Given the description of an element on the screen output the (x, y) to click on. 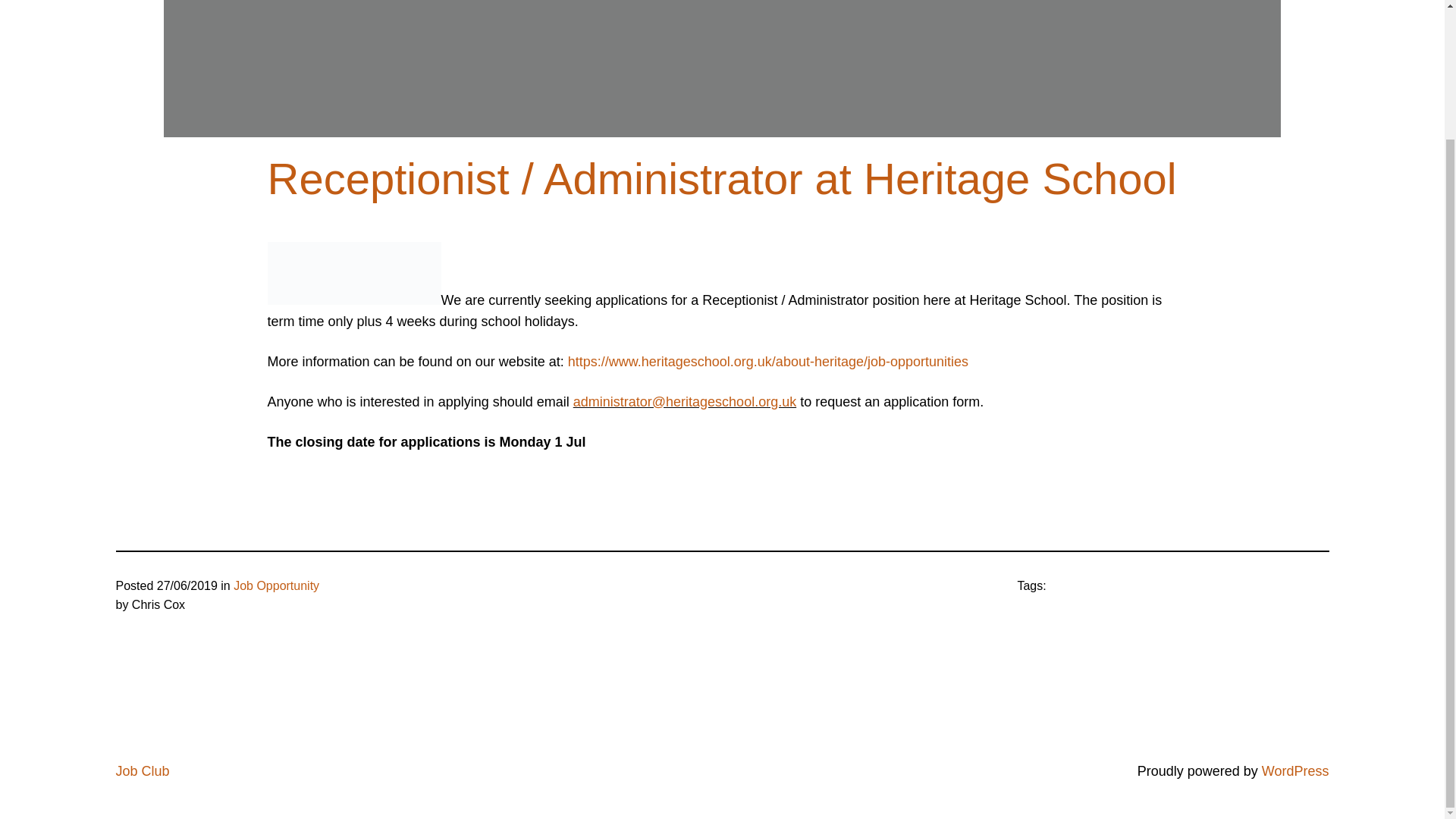
Job Club (141, 770)
WordPress (1295, 770)
Job Opportunity (275, 585)
